Given the description of an element on the screen output the (x, y) to click on. 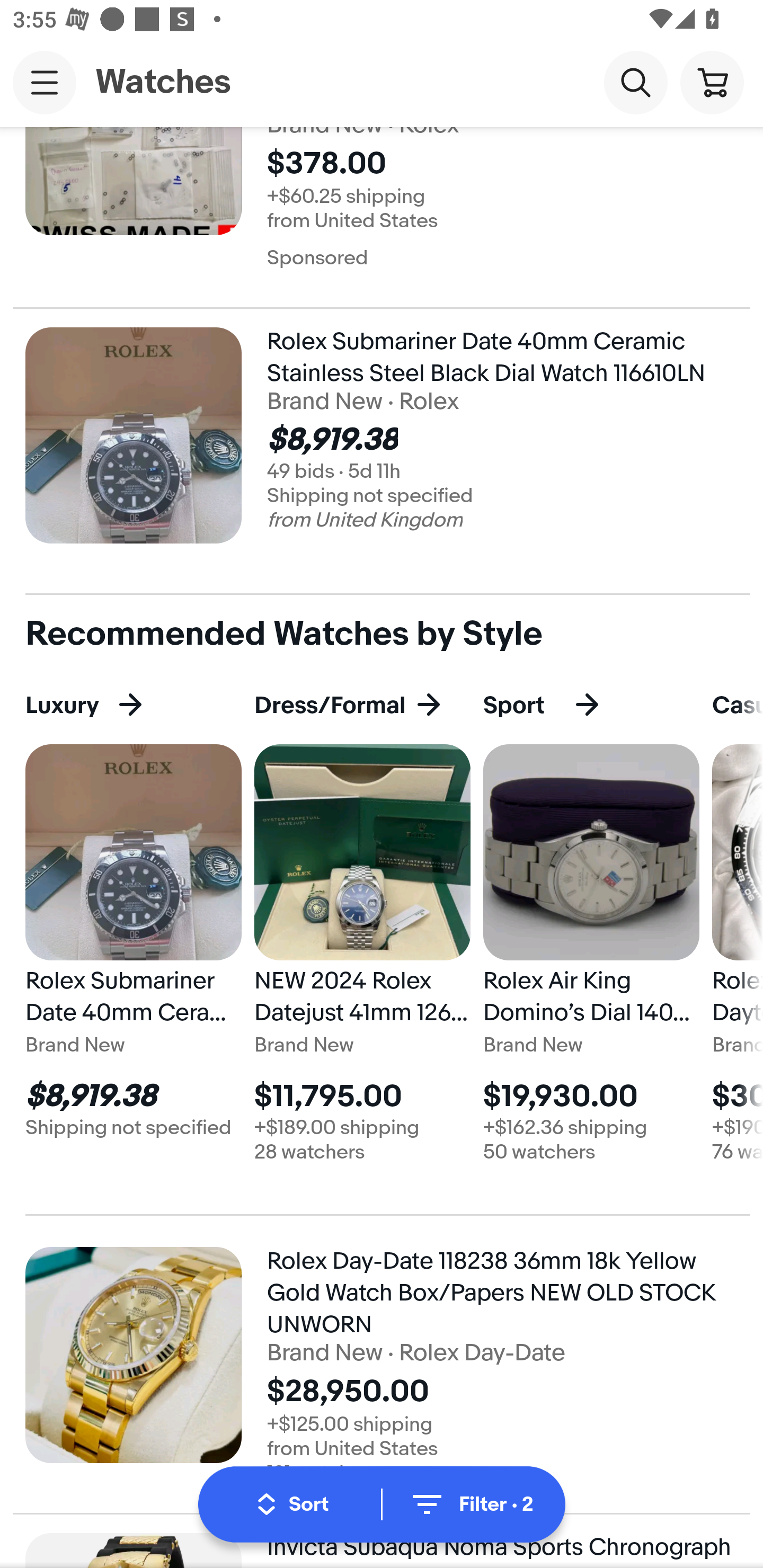
Main navigation, open (44, 82)
Search (635, 81)
Cart button shopping cart (711, 81)
Luxury (95, 705)
Dress/Formal (349, 705)
Sport (552, 705)
Sort (292, 1504)
Filter • 2 (470, 1504)
